Given the description of an element on the screen output the (x, y) to click on. 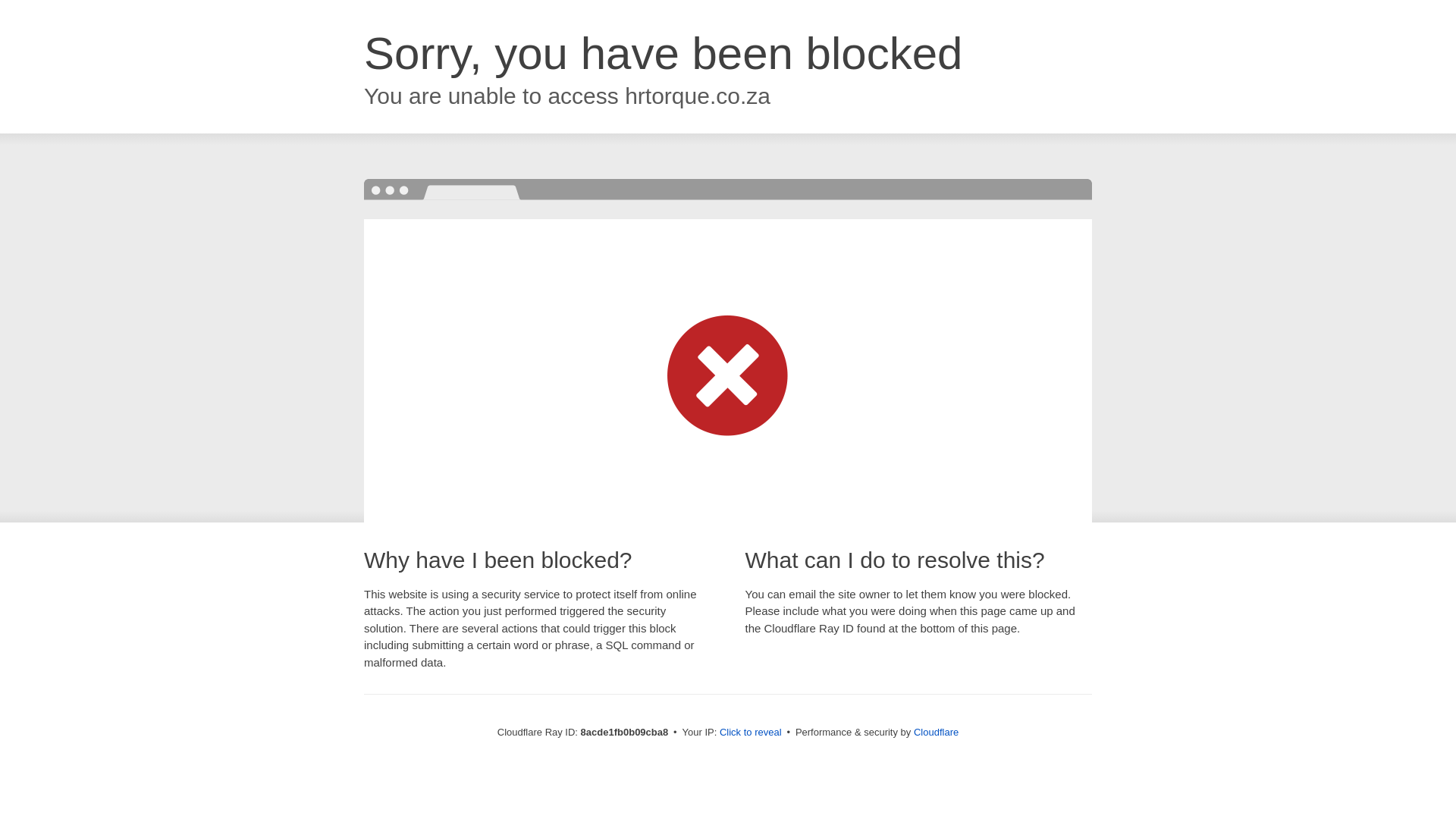
Cloudflare (936, 731)
Click to reveal (750, 732)
